Given the description of an element on the screen output the (x, y) to click on. 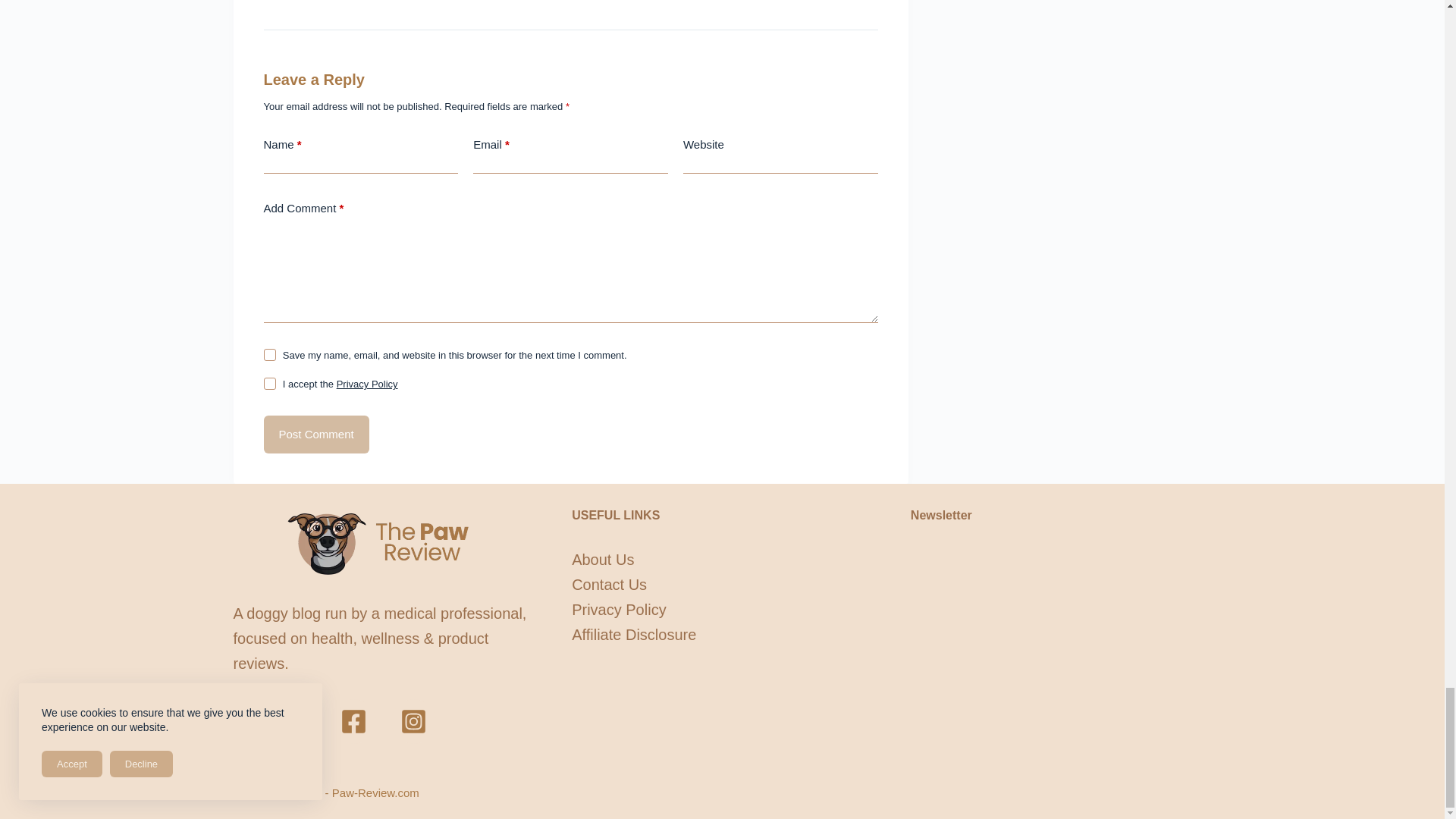
yes (269, 354)
Instagram Page (413, 721)
Facebook Page (353, 721)
on (269, 383)
